Given the description of an element on the screen output the (x, y) to click on. 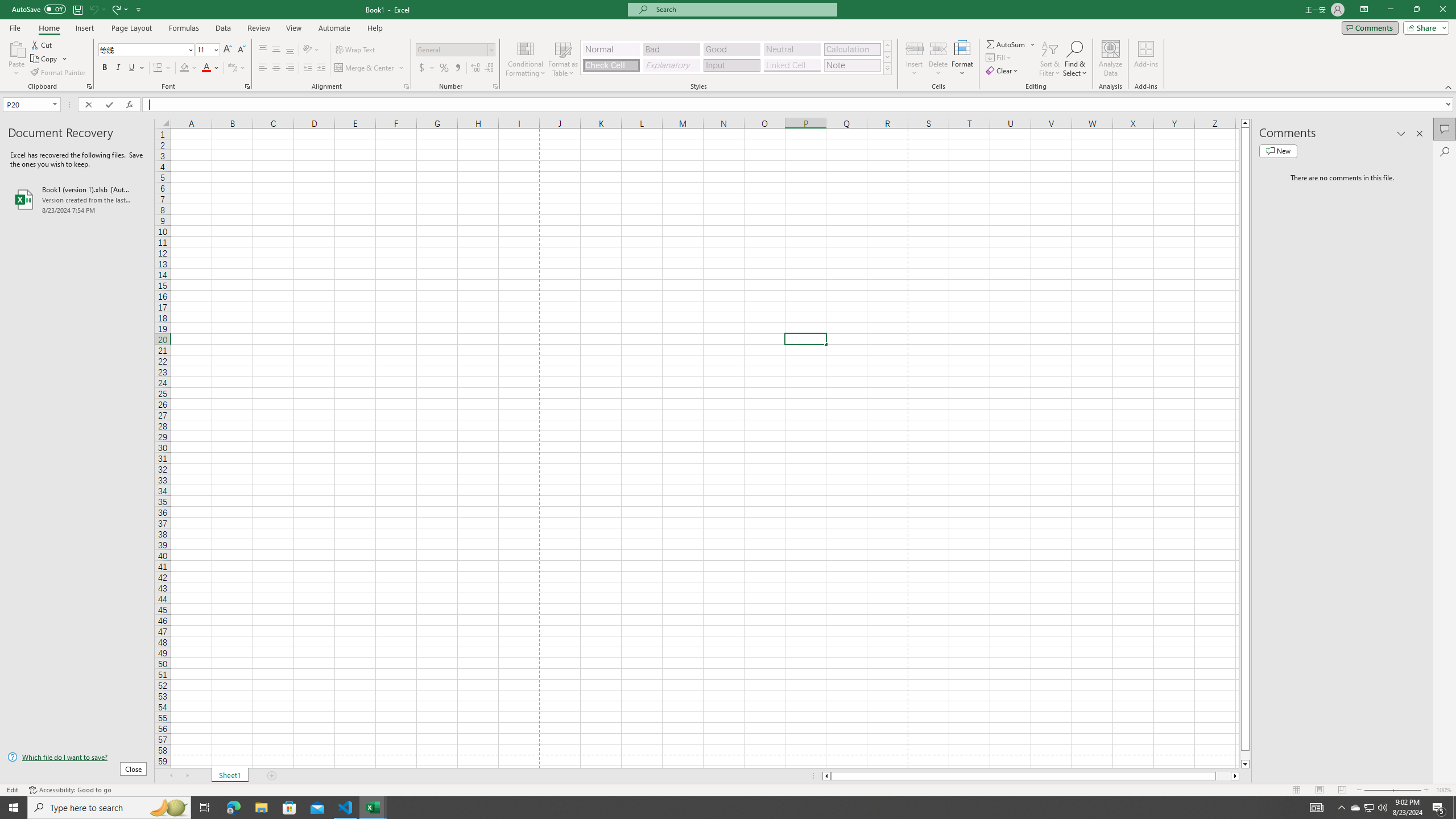
Class: MsoCommandBar (728, 45)
Accounting Number Format (422, 67)
Format Cell Font (247, 85)
